Given the description of an element on the screen output the (x, y) to click on. 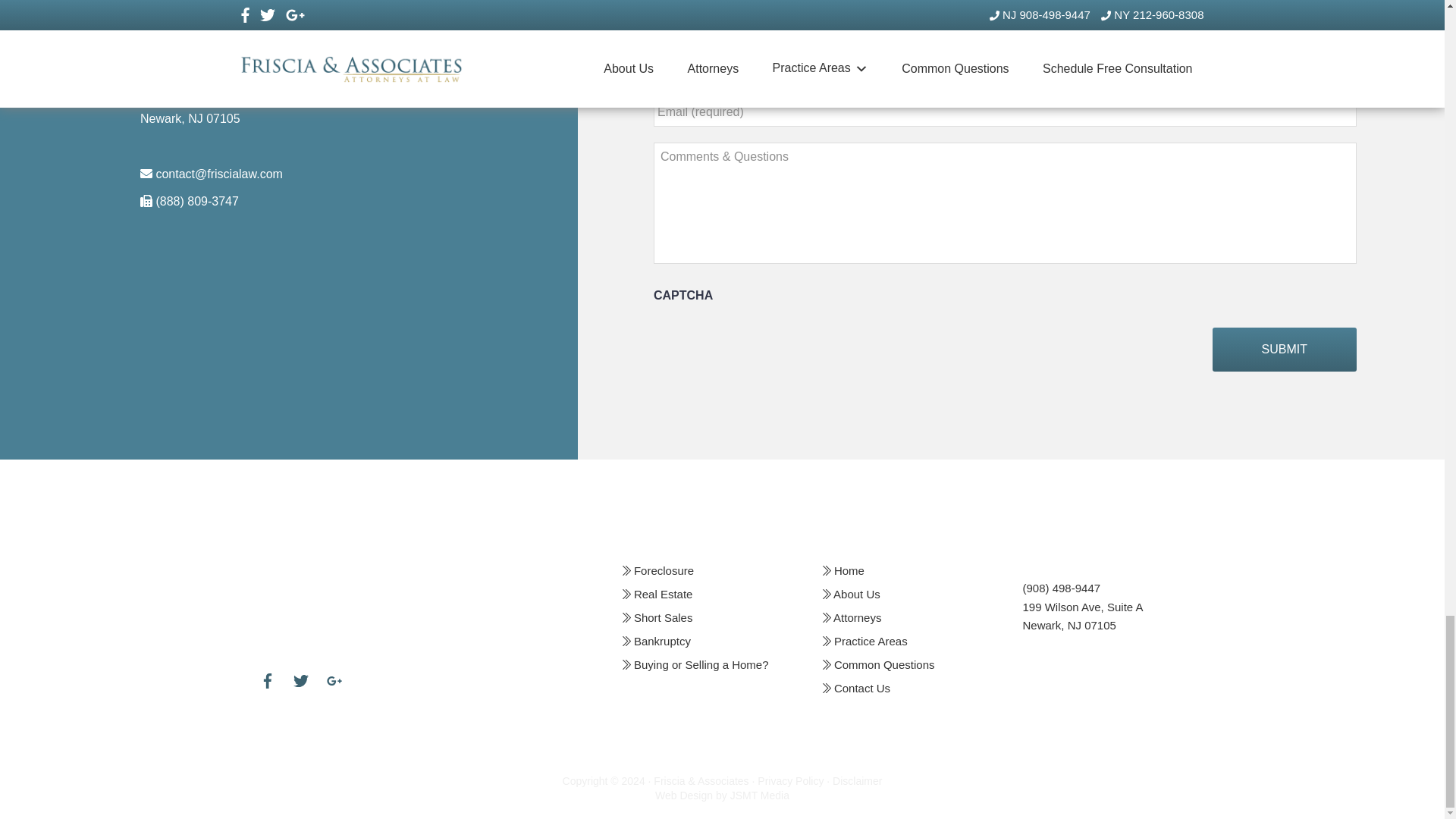
Submit (1284, 349)
